Given the description of an element on the screen output the (x, y) to click on. 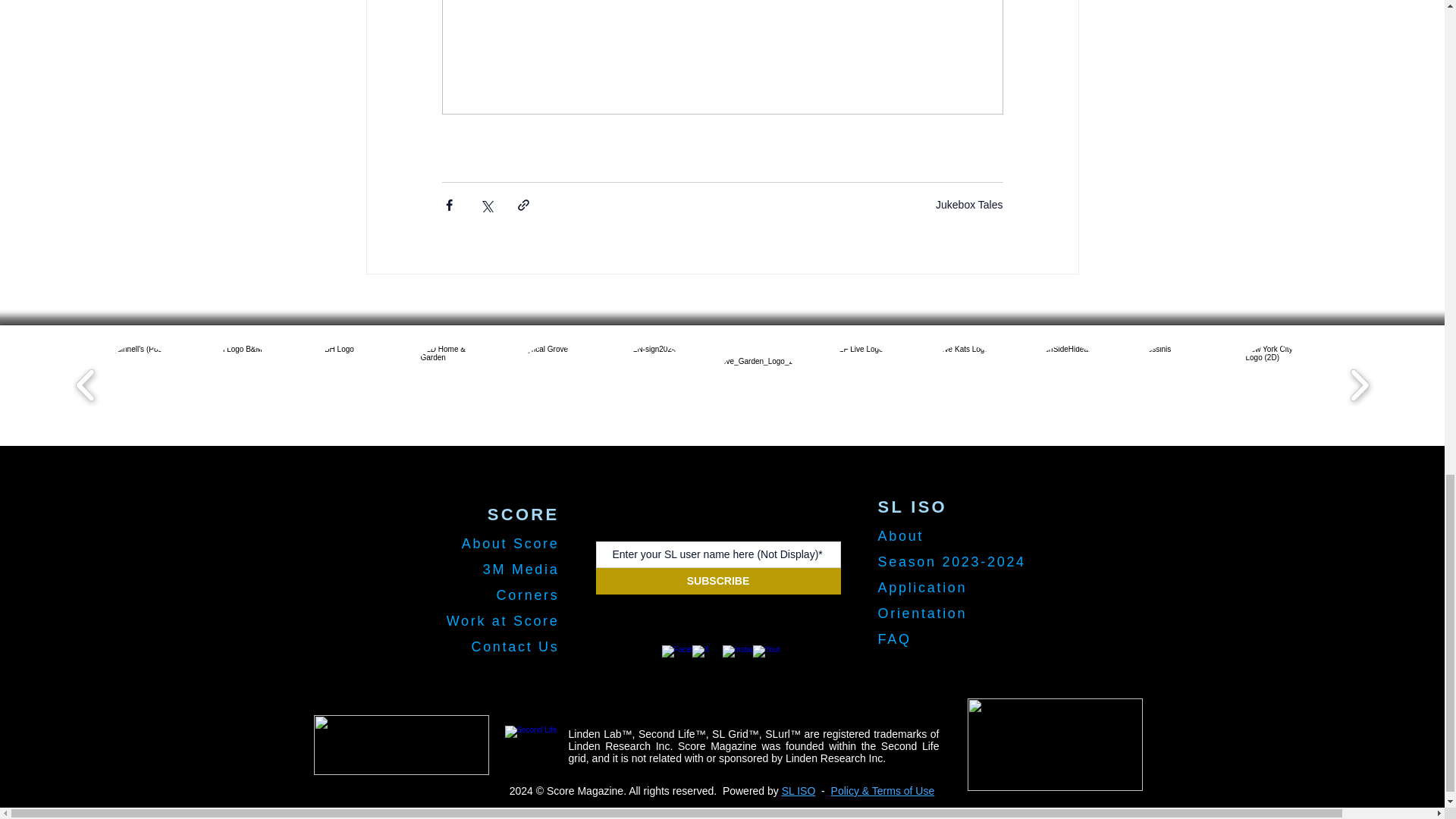
SL - Logo.png (535, 738)
flygearzlogotrans.png (1055, 744)
Jukebox Tales (969, 204)
BBX LOGO 2015 PNG.png (401, 744)
